Given the description of an element on the screen output the (x, y) to click on. 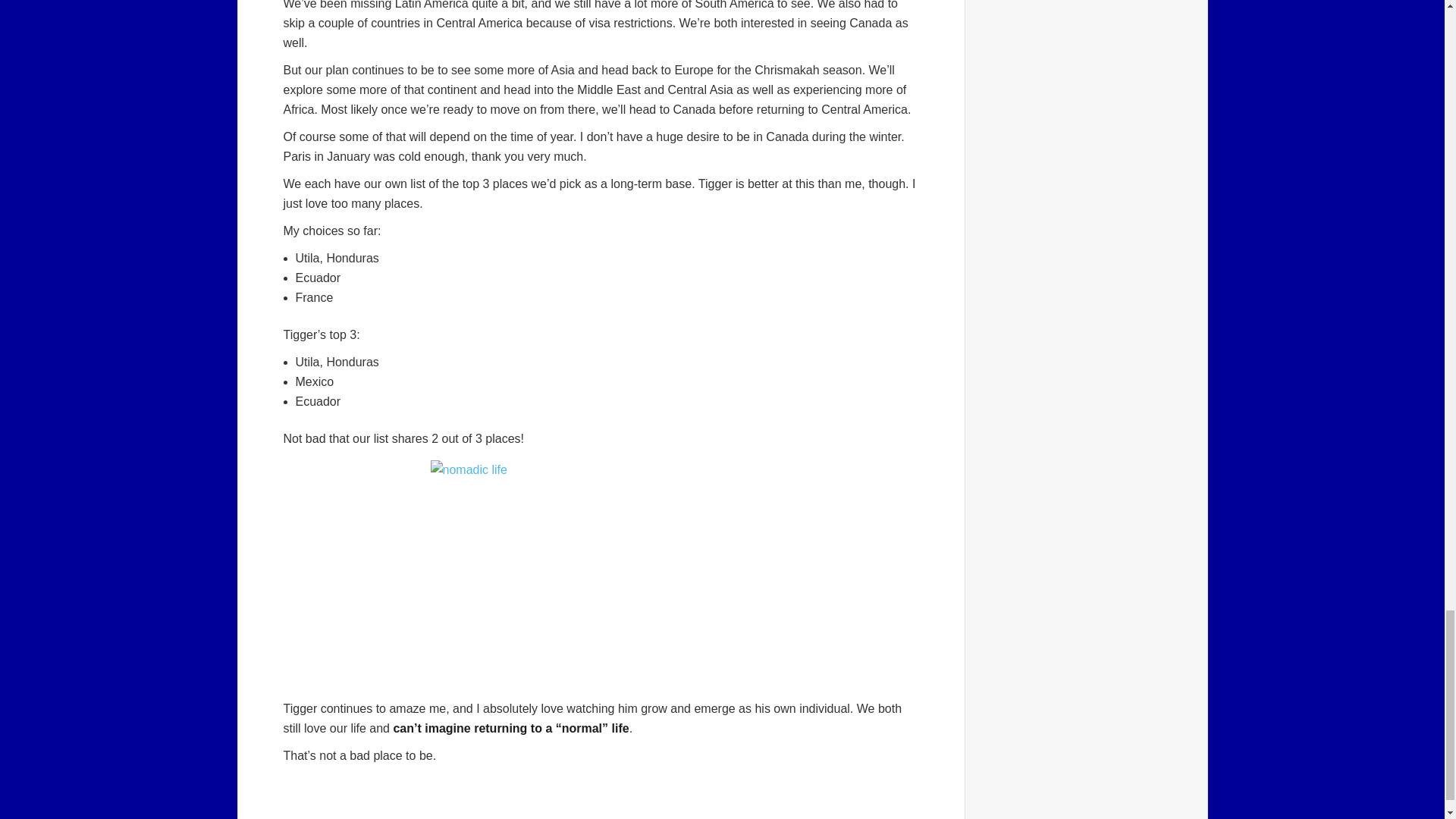
Tigger's 1st wreck dive, Mexico (600, 573)
